Given the description of an element on the screen output the (x, y) to click on. 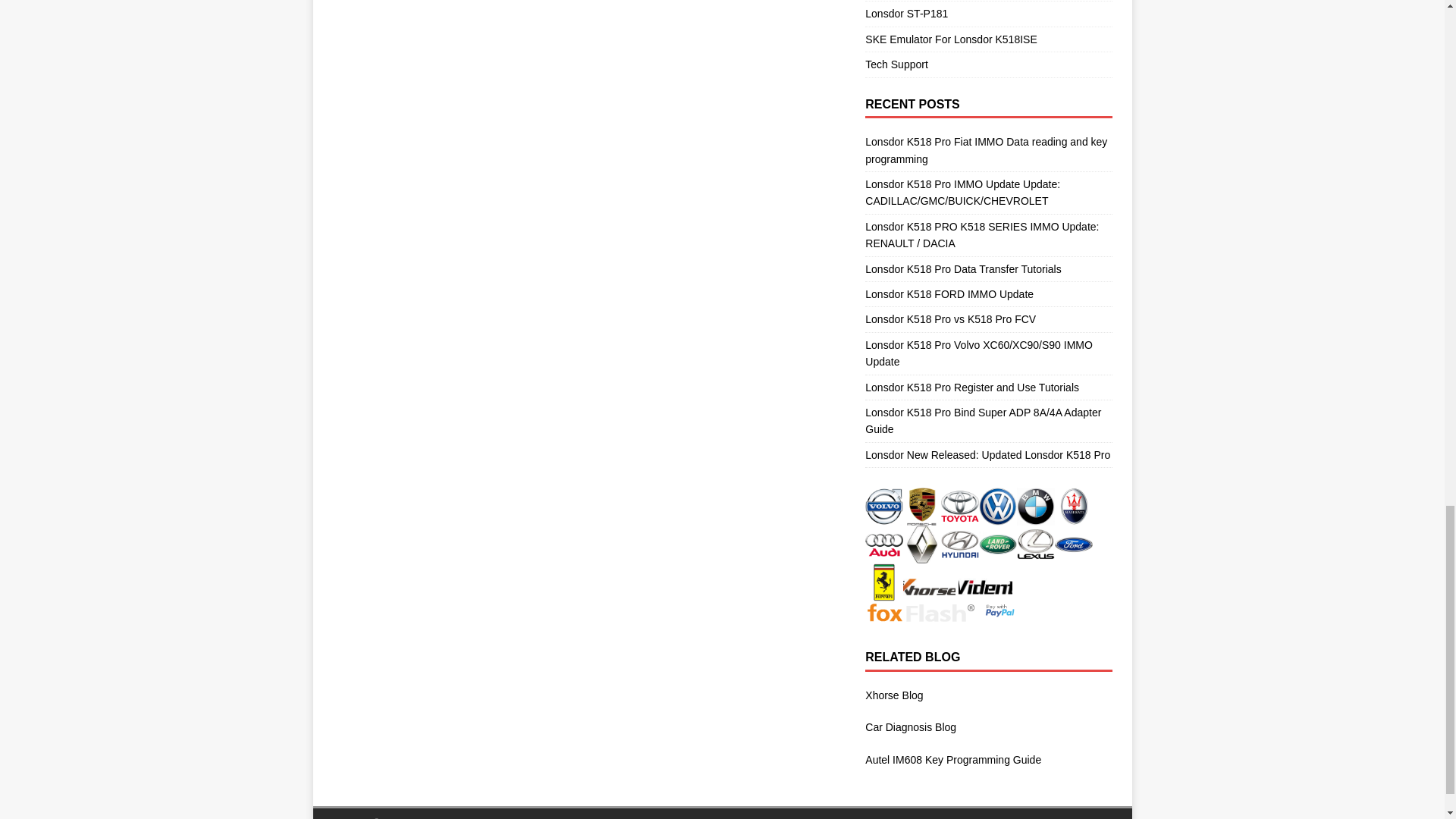
Lonsdor K518 Pro Data Transfer Tutorials (962, 268)
Lonsdor K518 FORD IMMO Update (948, 294)
SKE Emulator For Lonsdor K518ISE (988, 39)
Tech Support (988, 64)
Lonsdor ST-P181 (988, 13)
Lonsdor K518 Pro Fiat IMMO Data reading and key programming (985, 149)
